Given the description of an element on the screen output the (x, y) to click on. 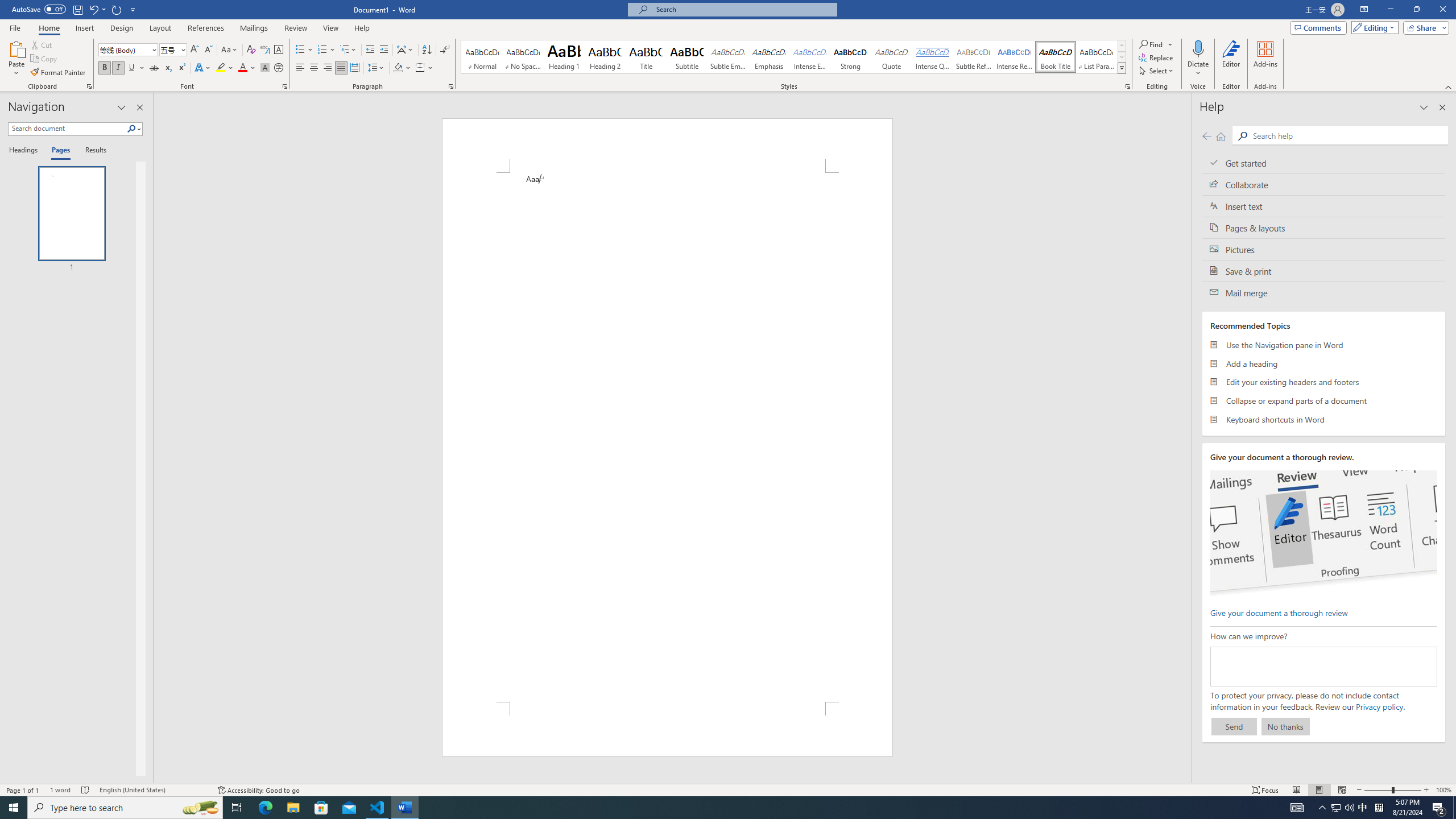
Page 1 content (667, 436)
Insert text (1323, 206)
Page Number Page 1 of 1 (22, 790)
